Given the description of an element on the screen output the (x, y) to click on. 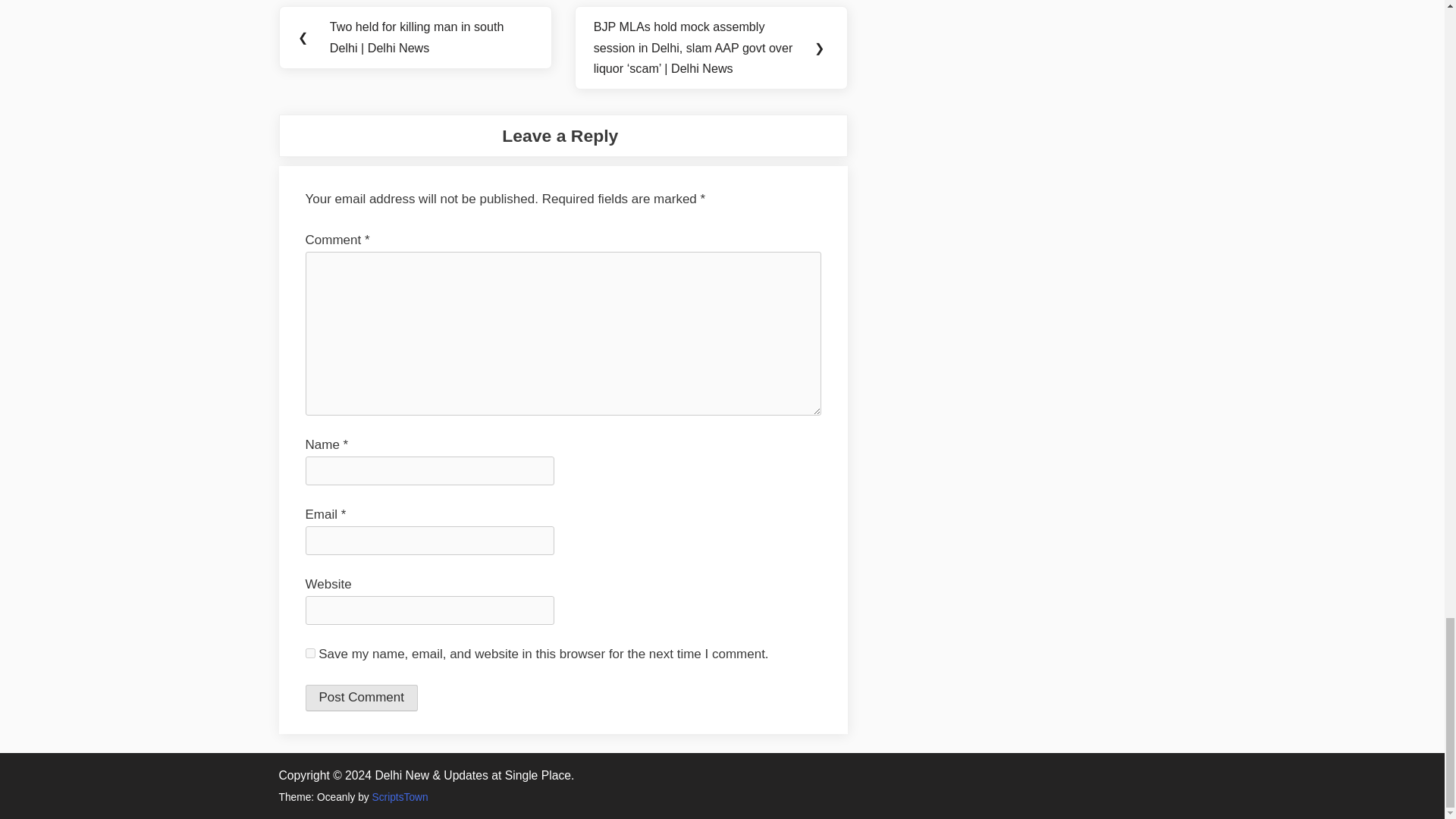
yes (309, 653)
Post Comment (360, 697)
ScriptsTown (400, 797)
Post Comment (360, 697)
